Given the description of an element on the screen output the (x, y) to click on. 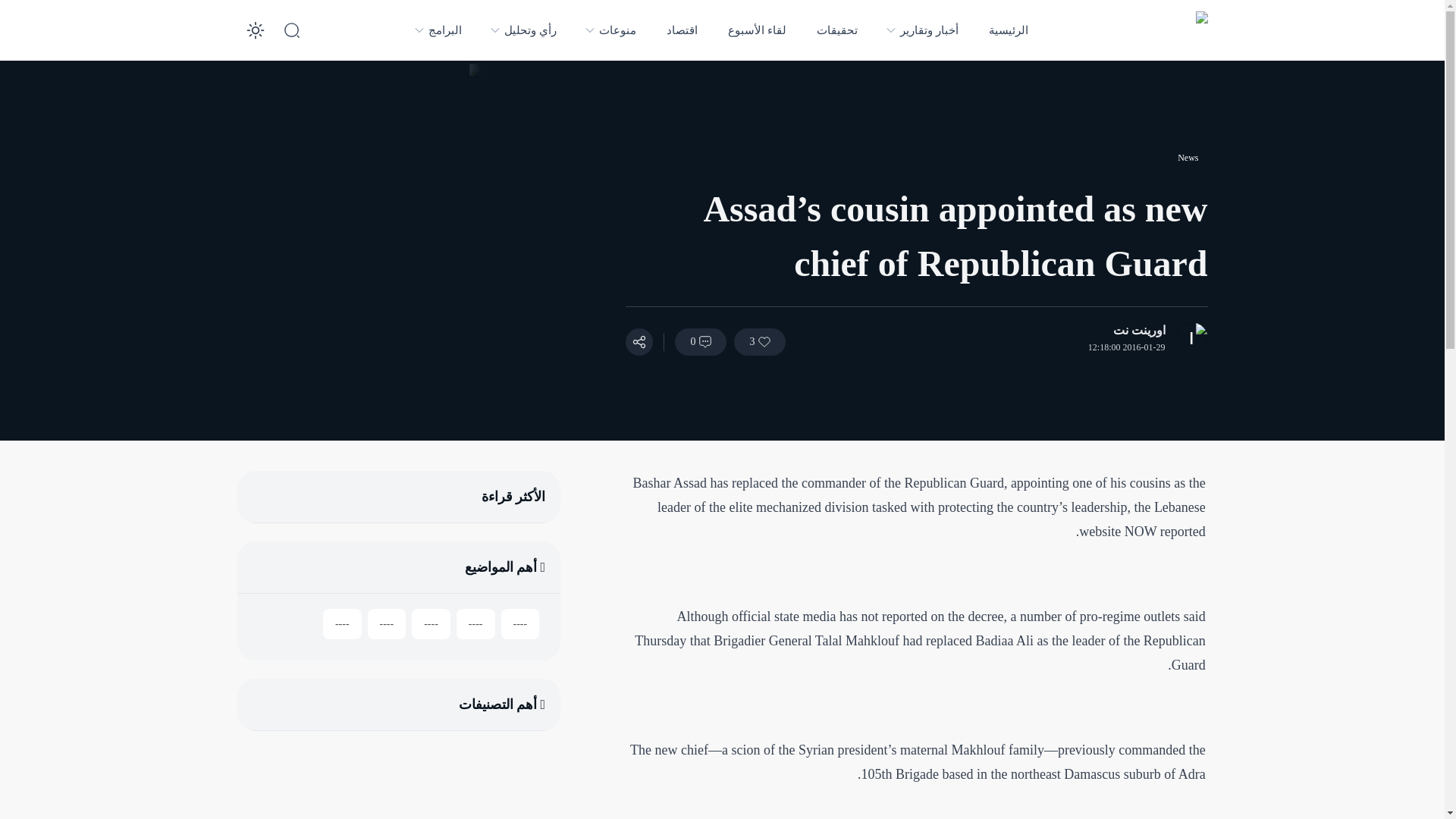
0 (700, 341)
Liked (759, 341)
---- (476, 624)
---- (342, 624)
3 (759, 341)
Enable dark mode (254, 30)
---- (430, 624)
---- (387, 624)
News (1188, 157)
Comments (700, 341)
More (638, 341)
---- (520, 624)
